Given the description of an element on the screen output the (x, y) to click on. 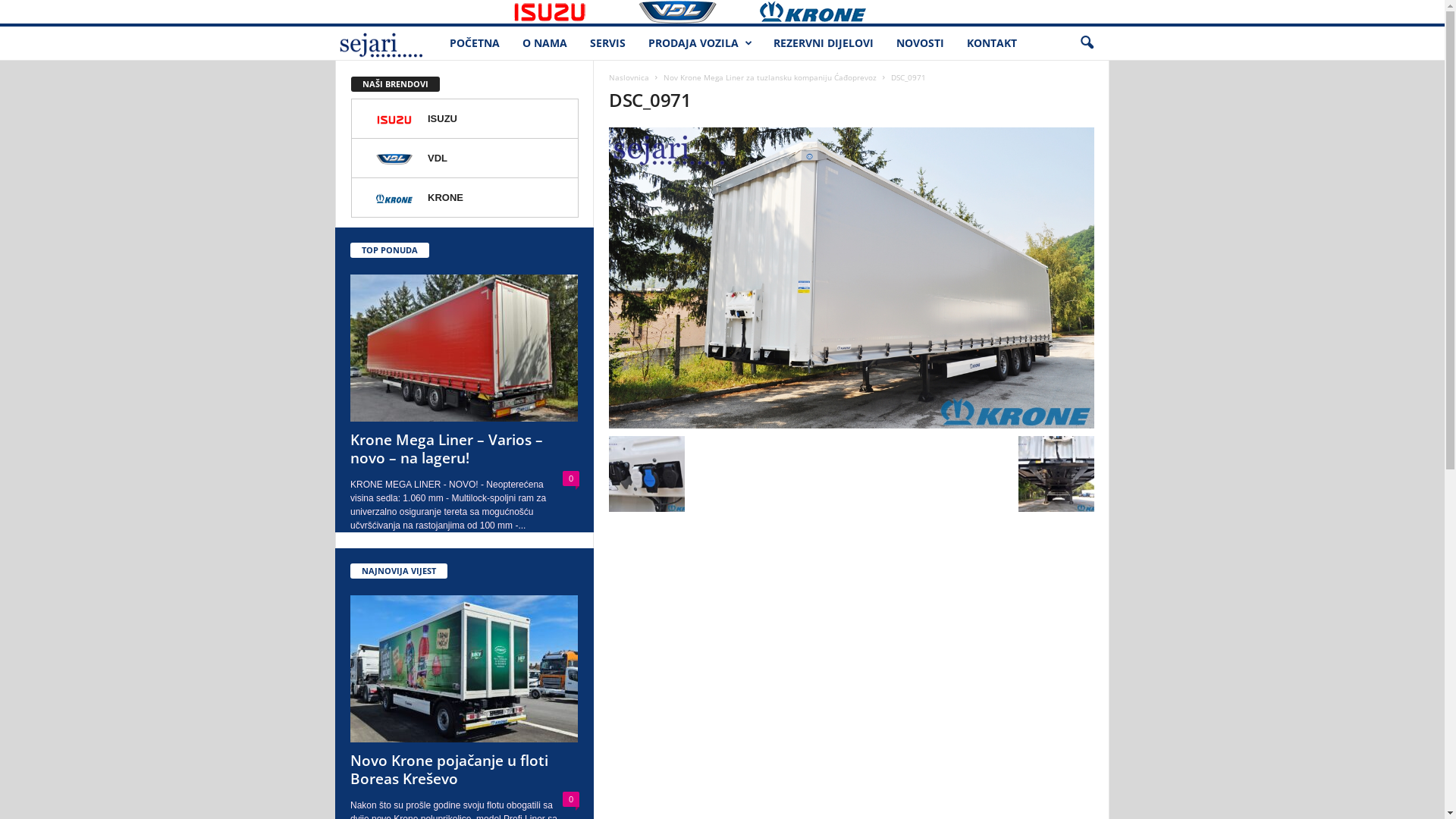
0 Element type: text (570, 478)
NOVOSTI Element type: text (919, 42)
KRONE Element type: text (464, 197)
REZERVNI DIJELOVI Element type: text (823, 42)
0 Element type: text (570, 798)
Naslovnica Element type: text (628, 77)
Sejari d.o.o. Sarajevo Element type: text (386, 43)
KONTAKT Element type: text (991, 42)
O NAMA Element type: text (544, 42)
ISUZU Element type: text (464, 118)
VDL Element type: text (692, 10)
ISUZU Element type: text (569, 10)
SERVIS Element type: text (607, 42)
DSC_0971 Element type: hover (851, 277)
KRONE Element type: text (834, 10)
############################### Element type: text (417, 10)
PRODAJA VOZILA Element type: text (699, 42)
VDL Element type: text (464, 158)
